Given the description of an element on the screen output the (x, y) to click on. 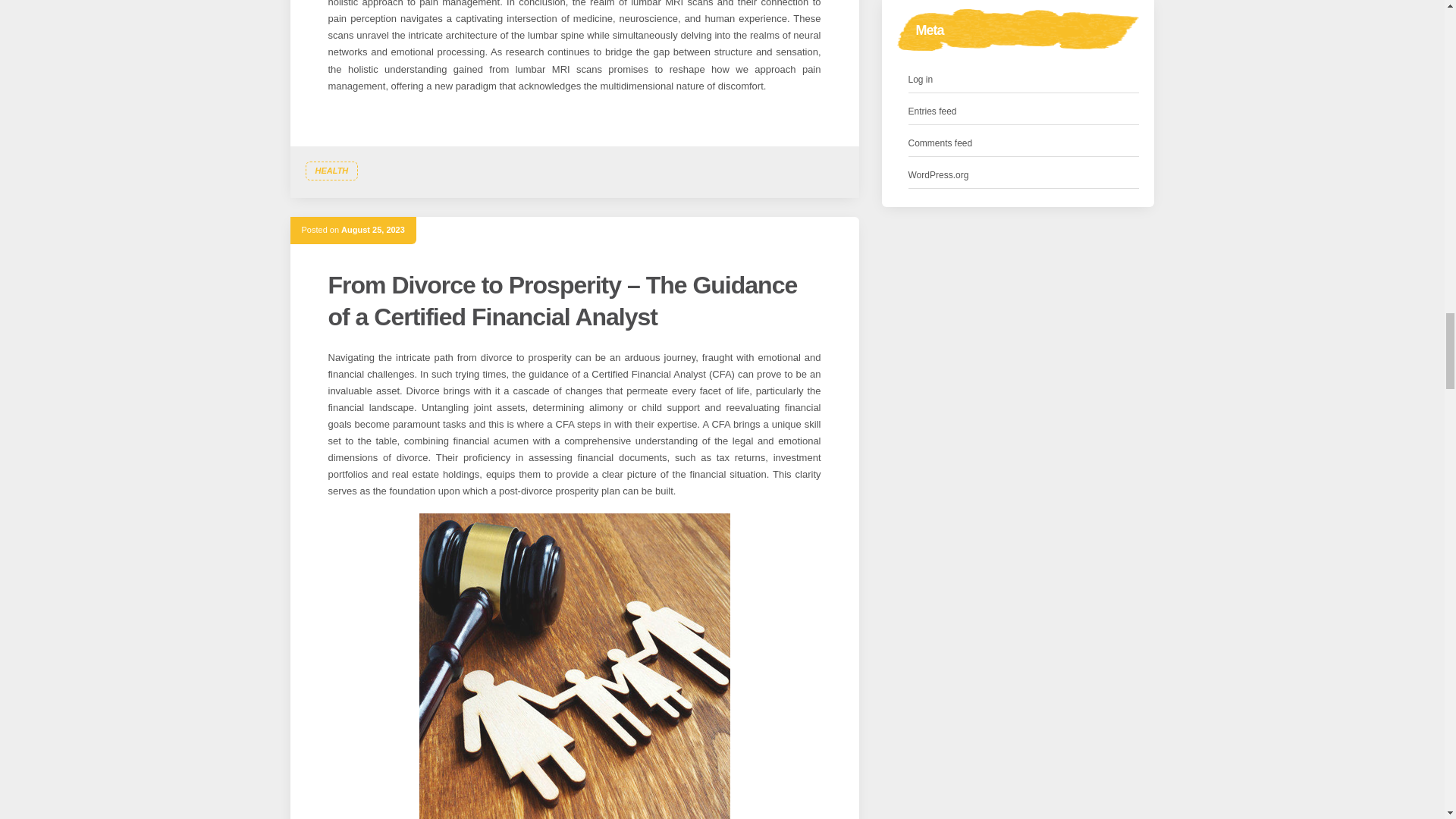
August 25, 2023 (372, 229)
HEALTH (331, 170)
